Given the description of an element on the screen output the (x, y) to click on. 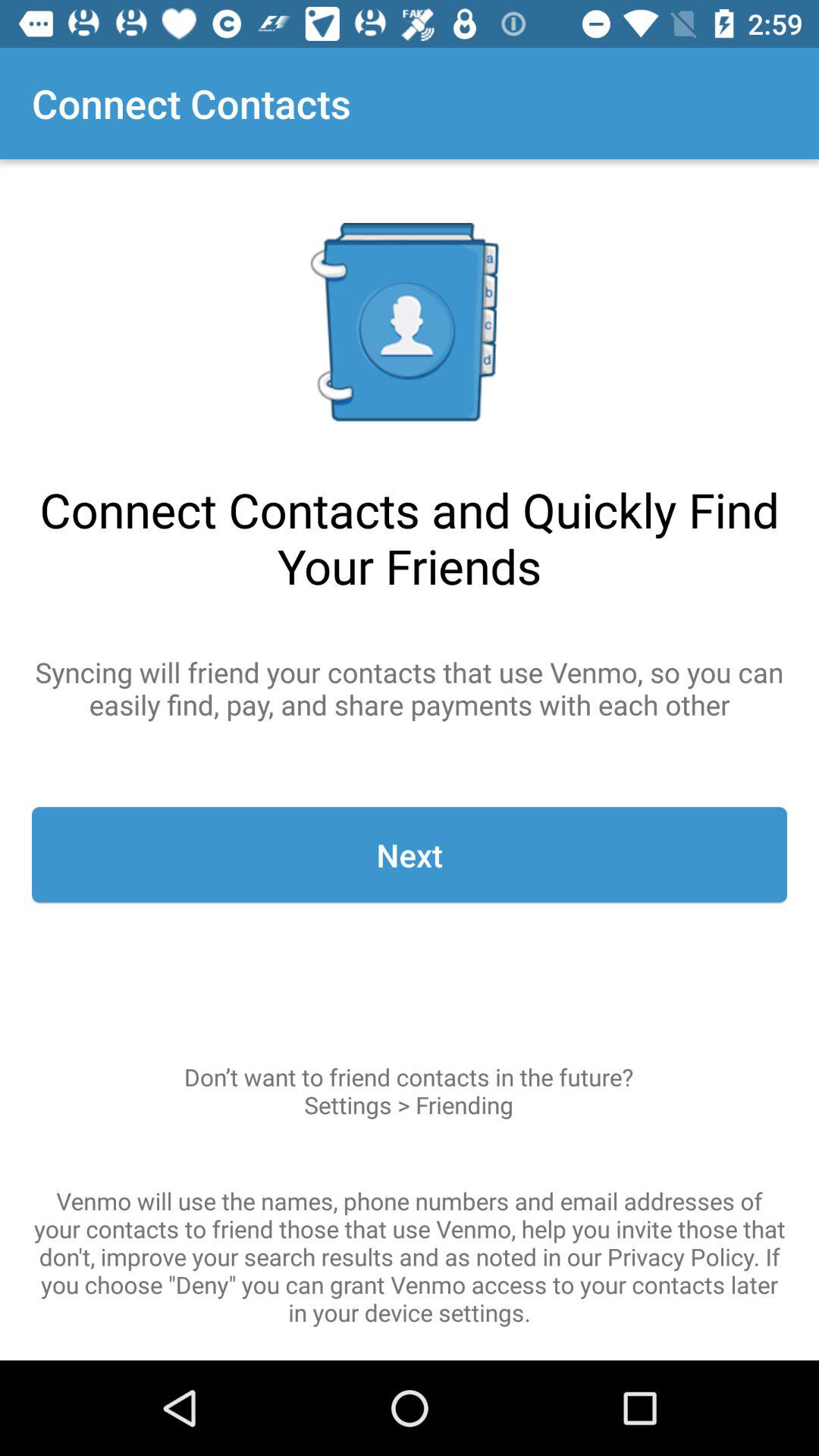
turn off item below syncing will friend icon (409, 854)
